Given the description of an element on the screen output the (x, y) to click on. 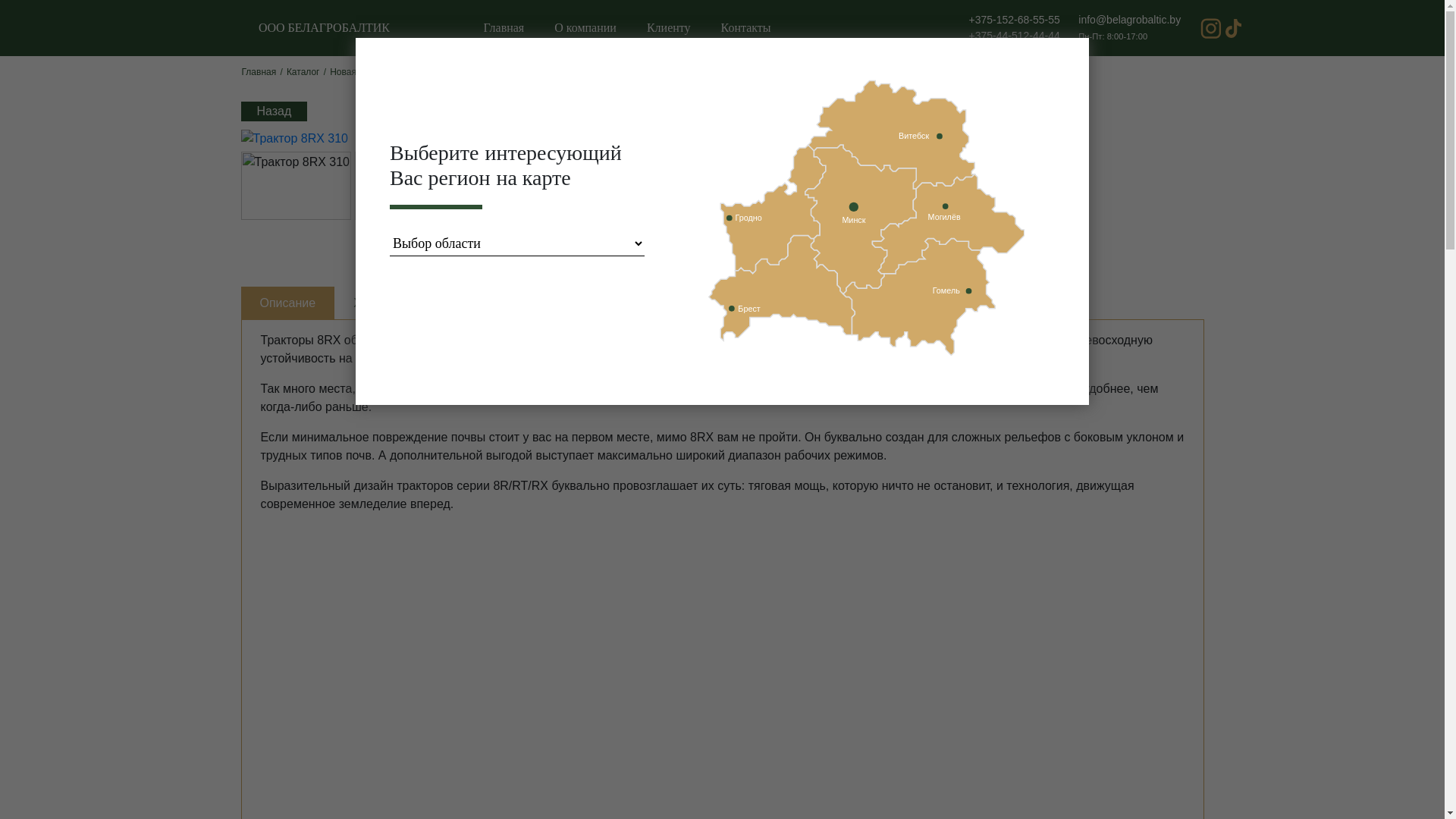
John Deere Element type: text (522, 71)
+375-152-68-55-55 Element type: text (1014, 19)
+375-44-512-44-44 Element type: text (1014, 35)
info@belagrobaltic.by Element type: text (1129, 19)
